Given the description of an element on the screen output the (x, y) to click on. 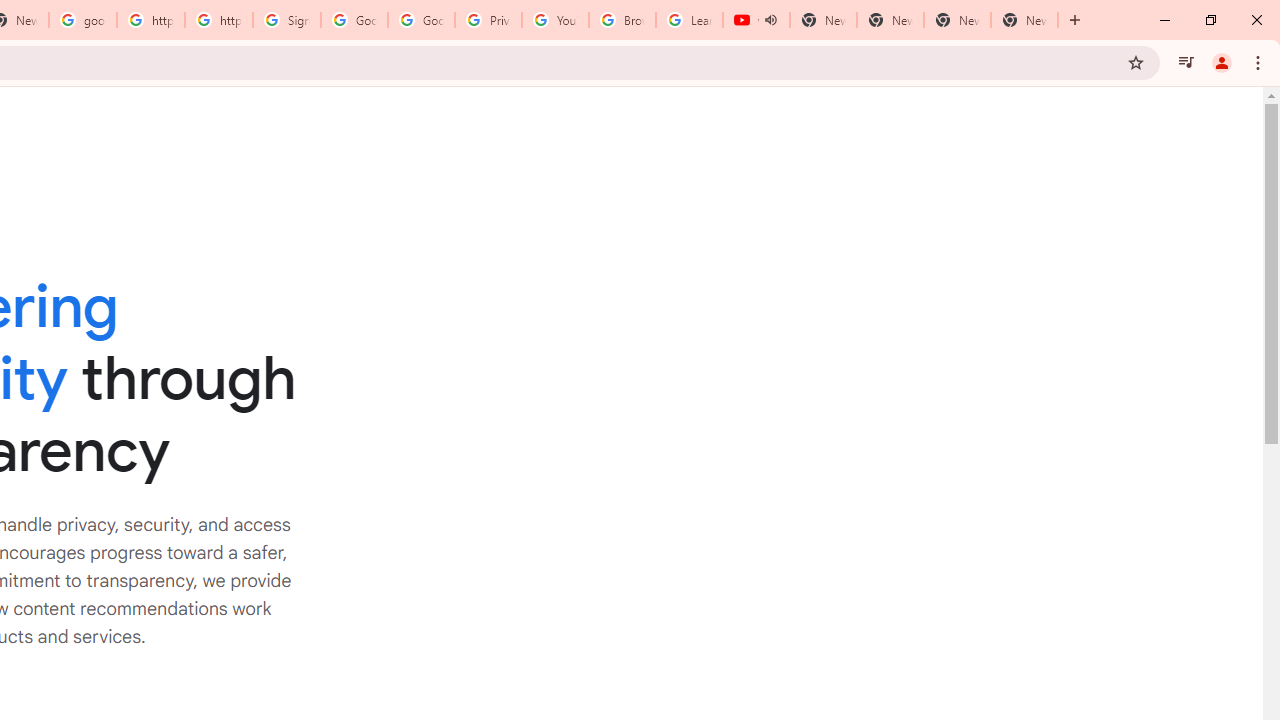
Control your music, videos, and more (1185, 62)
Browse Chrome as a guest - Computer - Google Chrome Help (622, 20)
YouTube (555, 20)
https://scholar.google.com/ (219, 20)
